Given the description of an element on the screen output the (x, y) to click on. 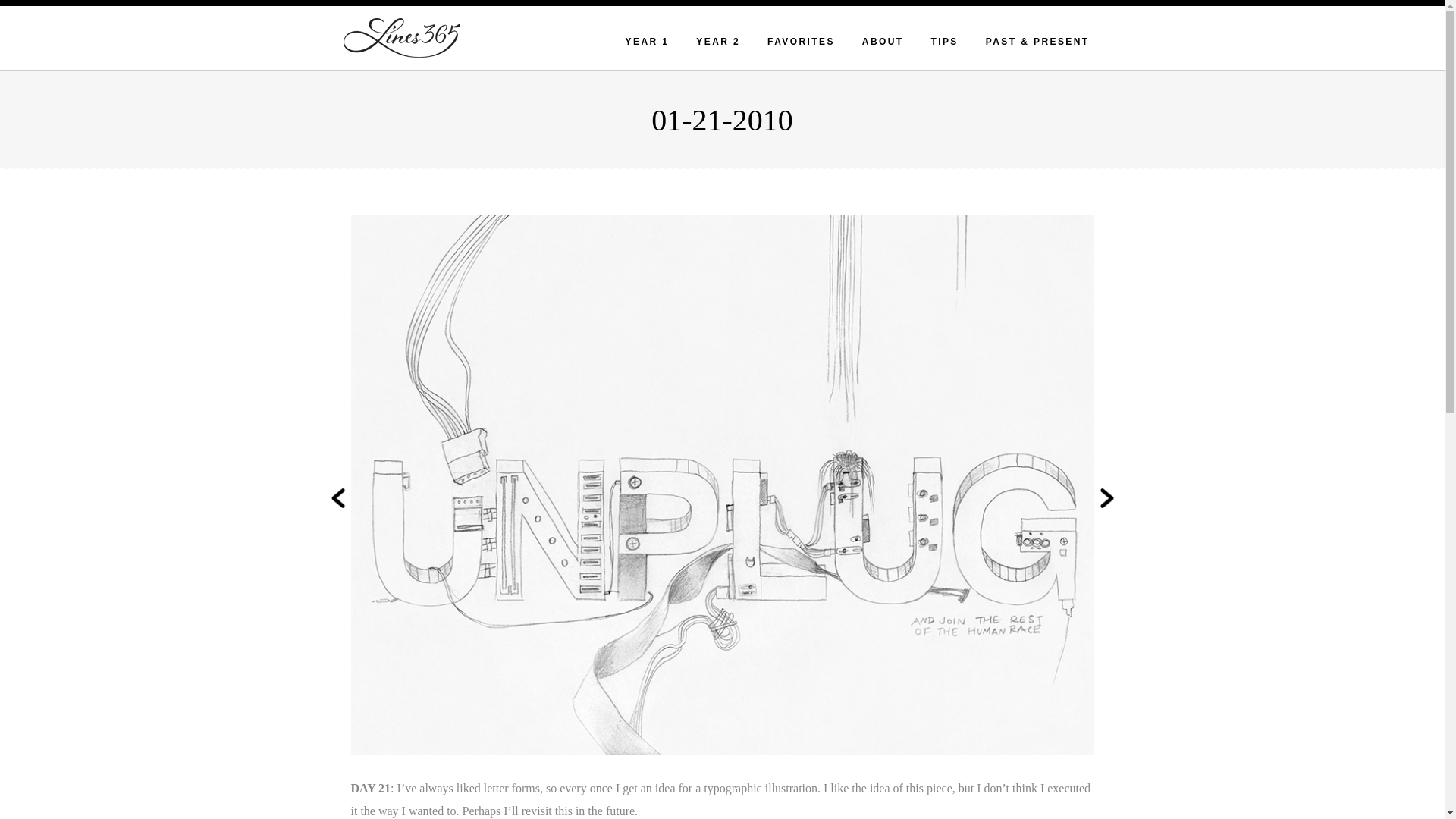
ABOUT (882, 41)
YEAR 2 (717, 41)
TIPS (944, 41)
YEAR 1 (647, 41)
FAVORITES (800, 41)
